Given the description of an element on the screen output the (x, y) to click on. 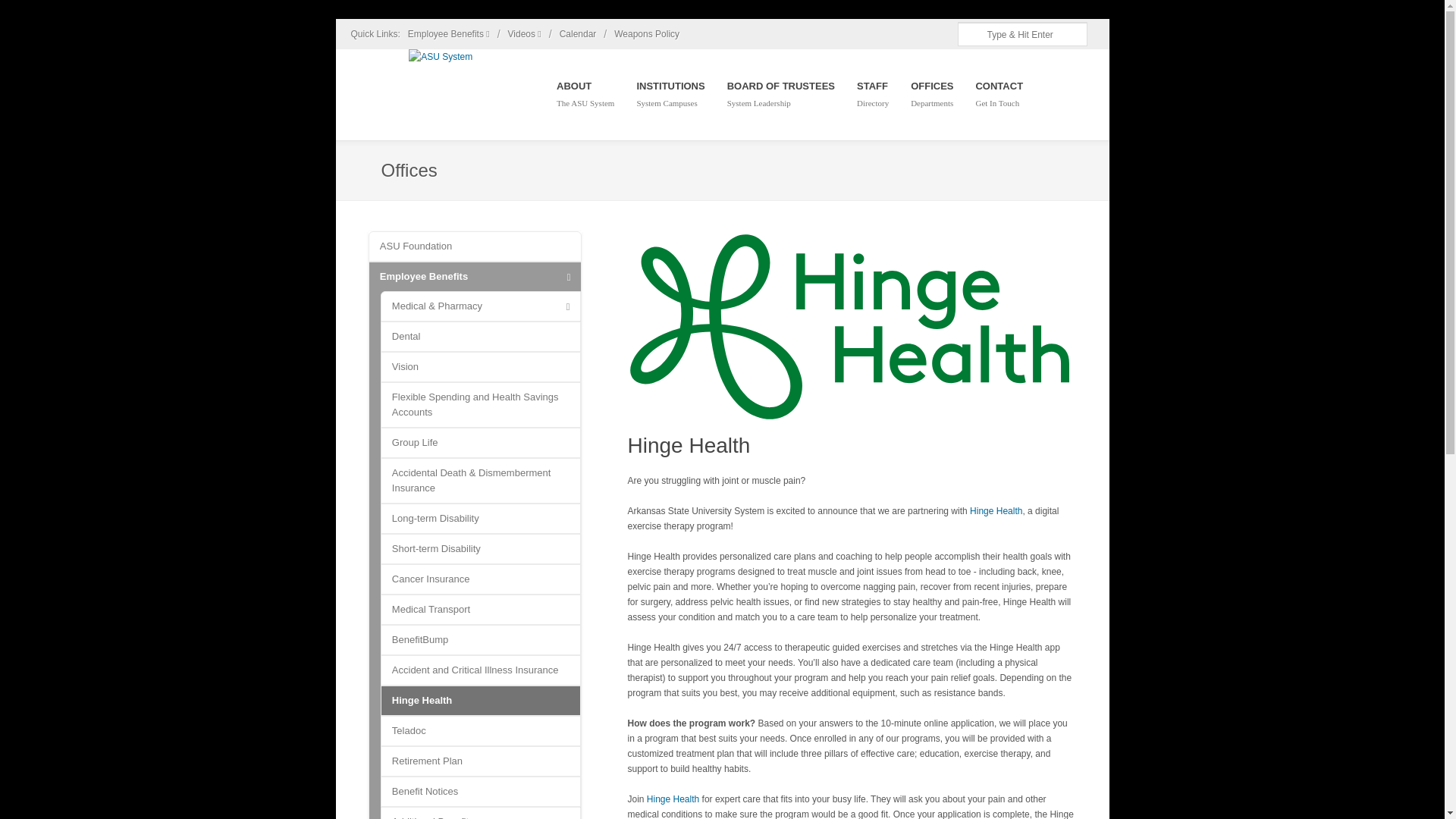
Hinge Health (850, 329)
ASU System (440, 56)
